Given the description of an element on the screen output the (x, y) to click on. 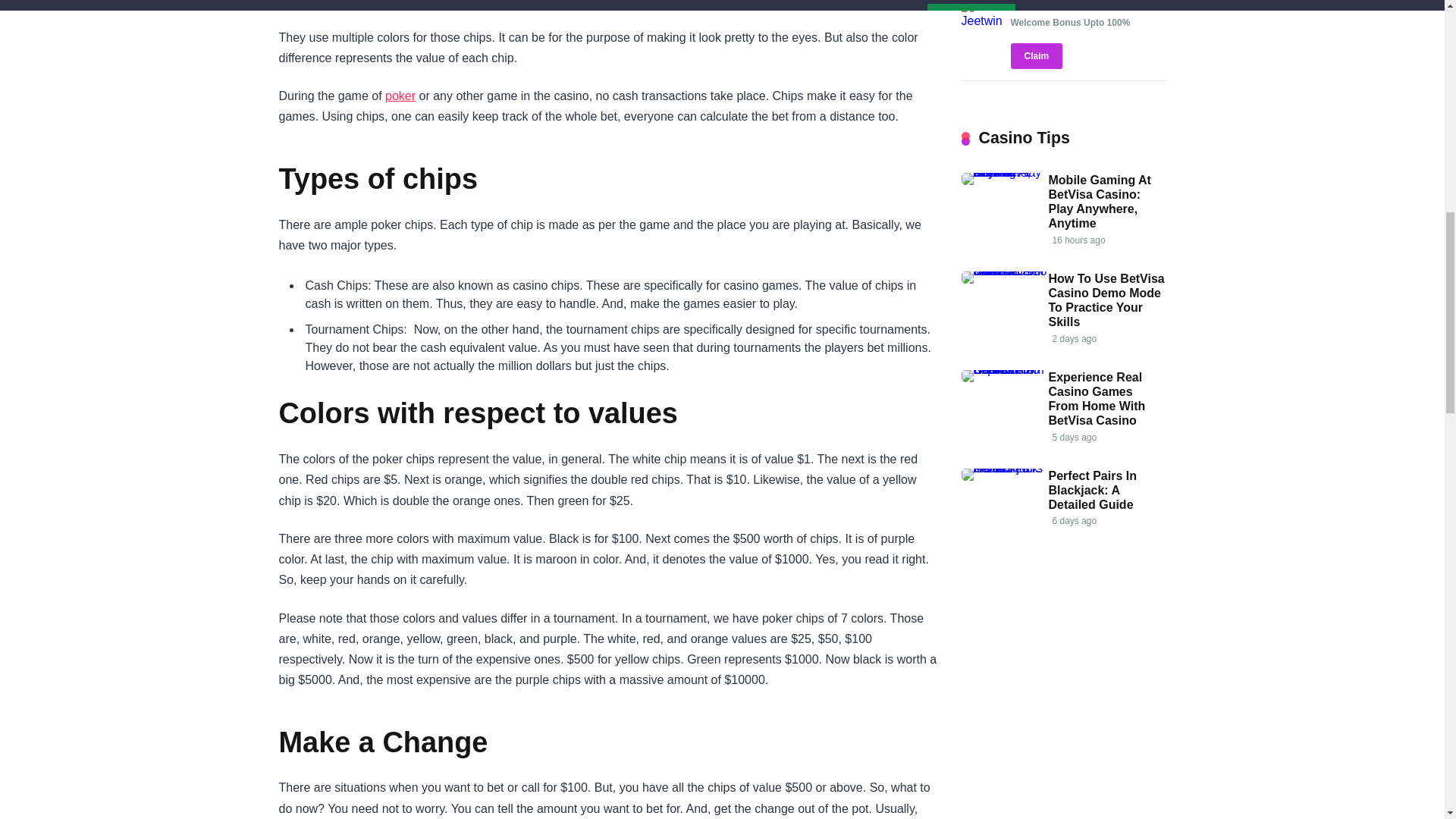
poker (399, 95)
